Given the description of an element on the screen output the (x, y) to click on. 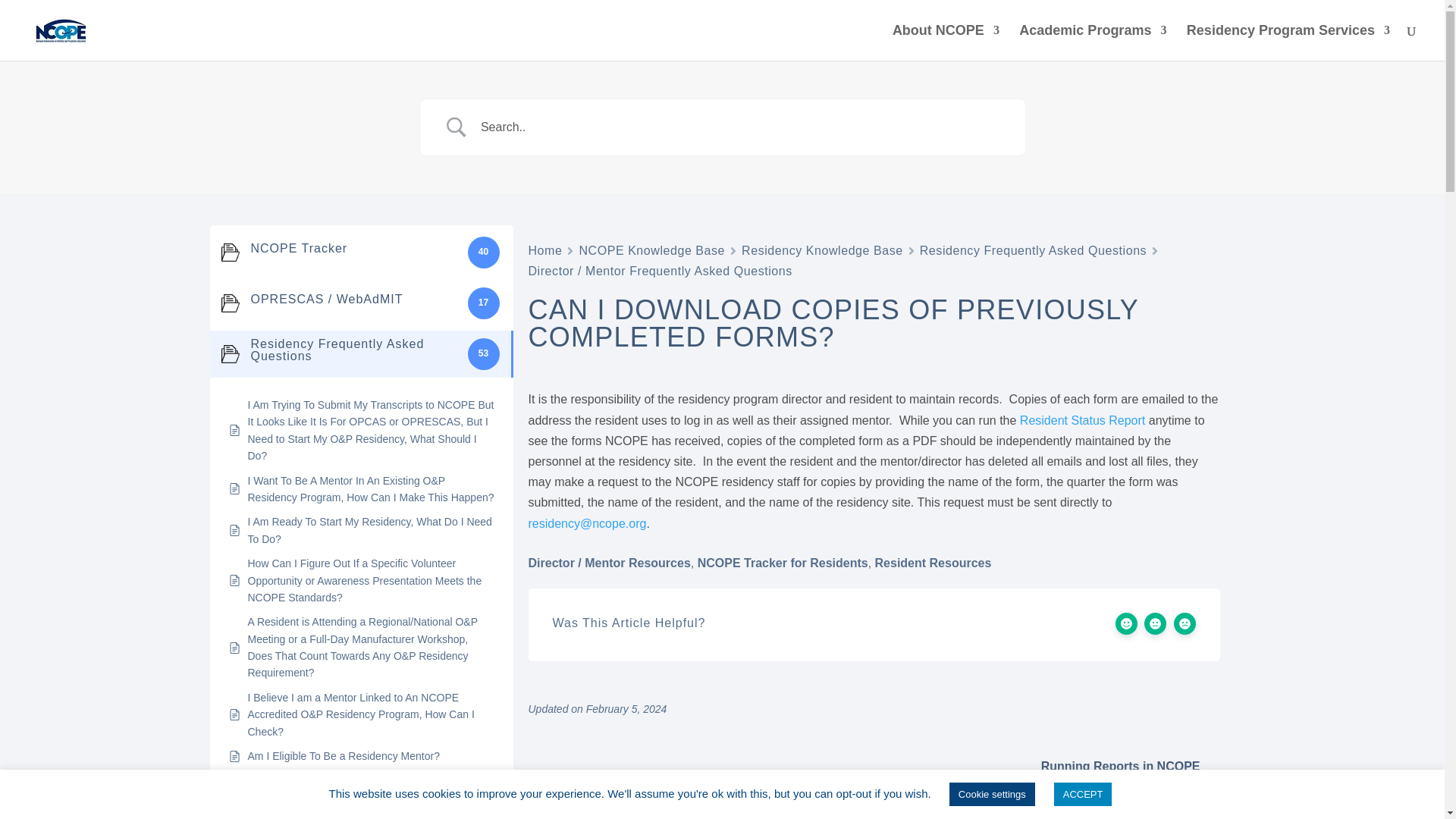
Residency Knowledge Base (821, 250)
Home (544, 250)
NCOPE Knowledge Base (651, 250)
Residency Frequently Asked Questions (1033, 250)
Academic Programs (1092, 42)
About NCOPE (945, 42)
